Given the description of an element on the screen output the (x, y) to click on. 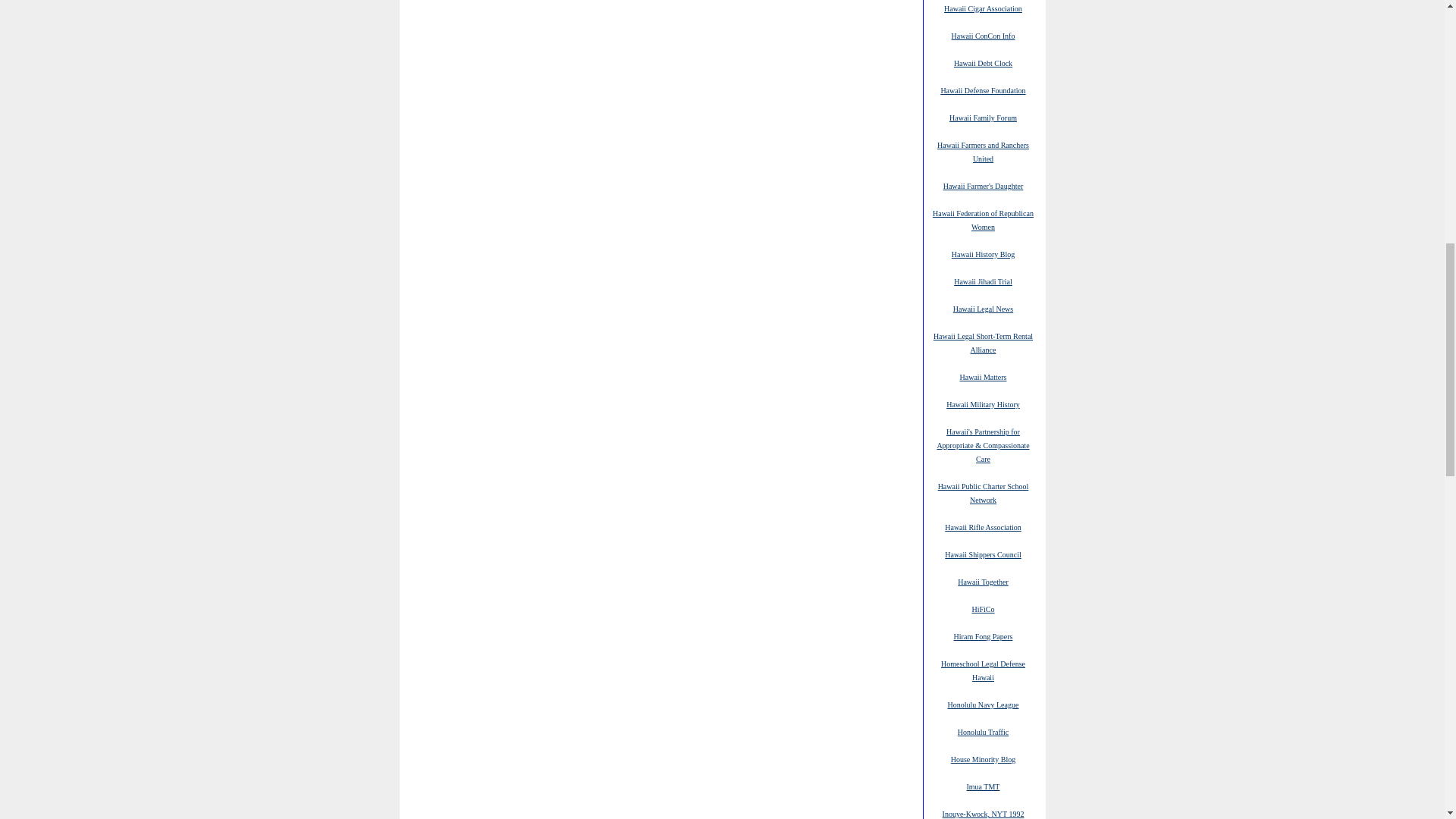
Hawaii ConCon Info (983, 35)
Hawaii Farmer's Daughter (983, 185)
Hawaii Federation of Republican Women (983, 219)
Hawaii Debt Clock (982, 62)
Hawaii Family Forum (982, 117)
Hawaii Cigar Association (982, 8)
Hawaii History Blog (983, 253)
Hawaii Defense Foundation (982, 90)
Hawaii Farmers and Ranchers United (983, 151)
